Given the description of an element on the screen output the (x, y) to click on. 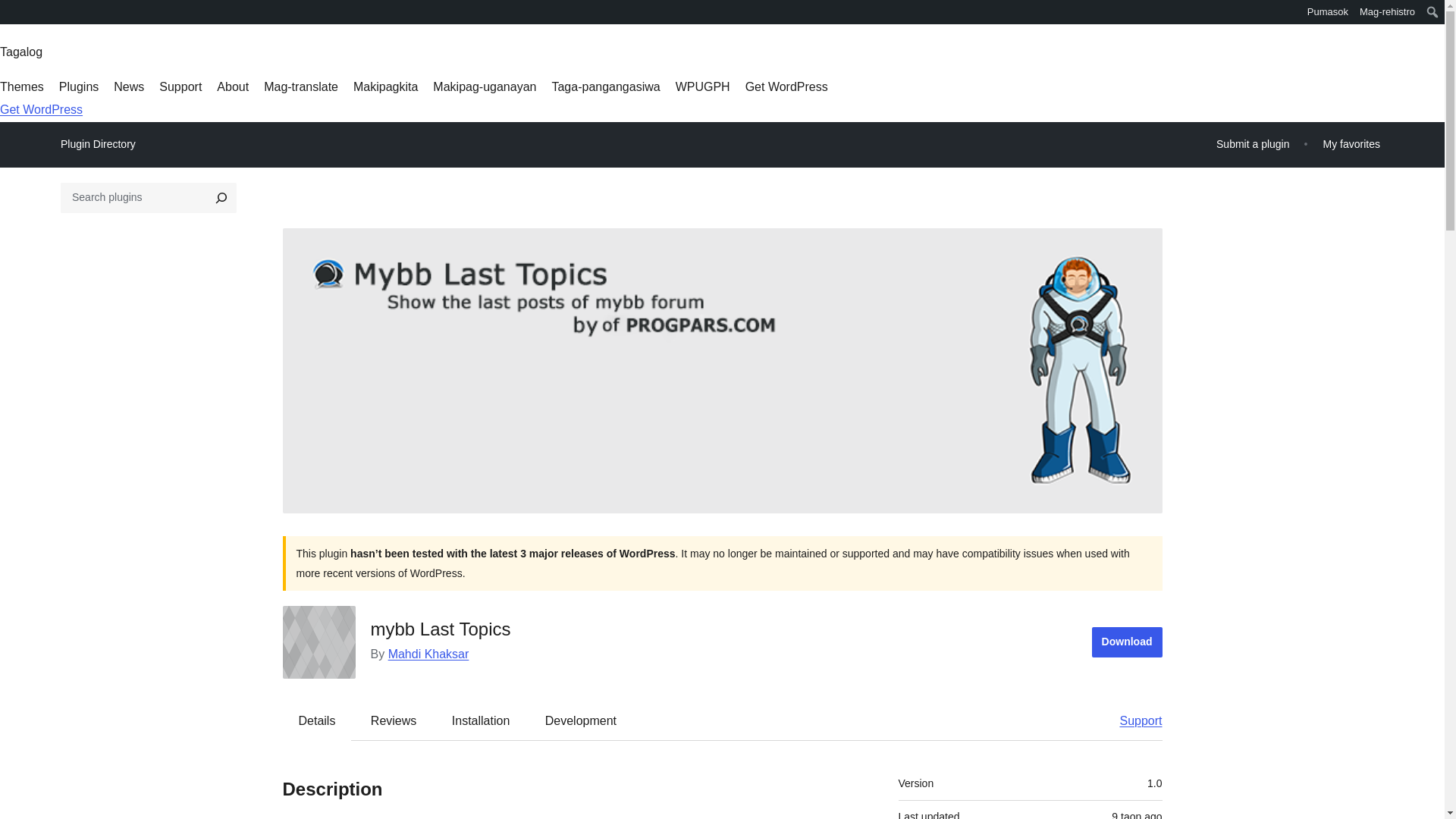
Get WordPress (786, 87)
Installation (480, 720)
Details (316, 720)
News (128, 87)
WPUGPH (702, 87)
Plugin Directory (97, 143)
About (232, 87)
Mahdi Khaksar (428, 653)
WordPress.org (10, 10)
Support (1132, 720)
Submit a plugin (1253, 144)
Reviews (392, 720)
Makipag-uganayan (483, 87)
WordPress.org (10, 16)
Makipagkita (385, 87)
